Given the description of an element on the screen output the (x, y) to click on. 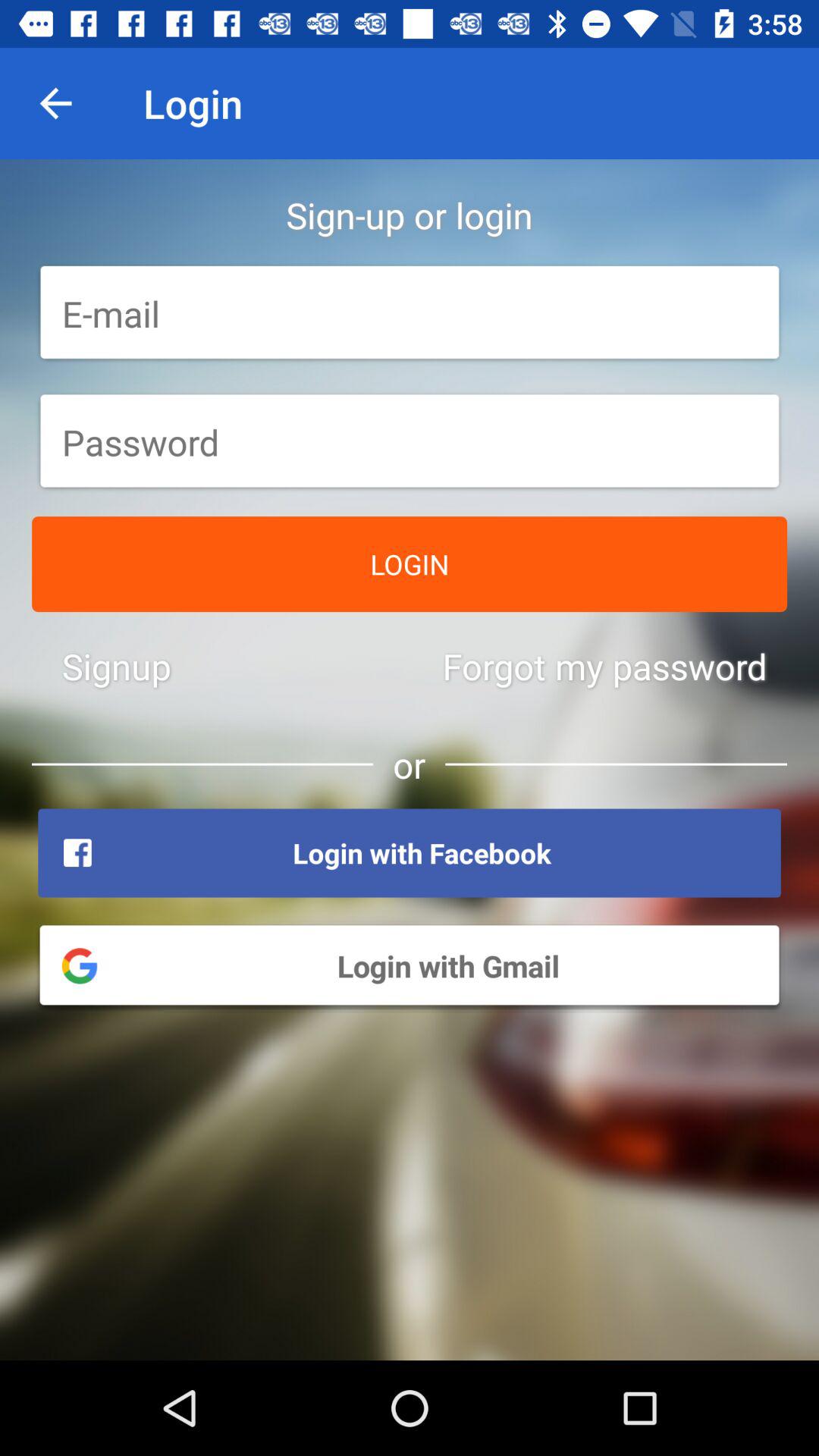
choose the forgot my password (604, 665)
